Given the description of an element on the screen output the (x, y) to click on. 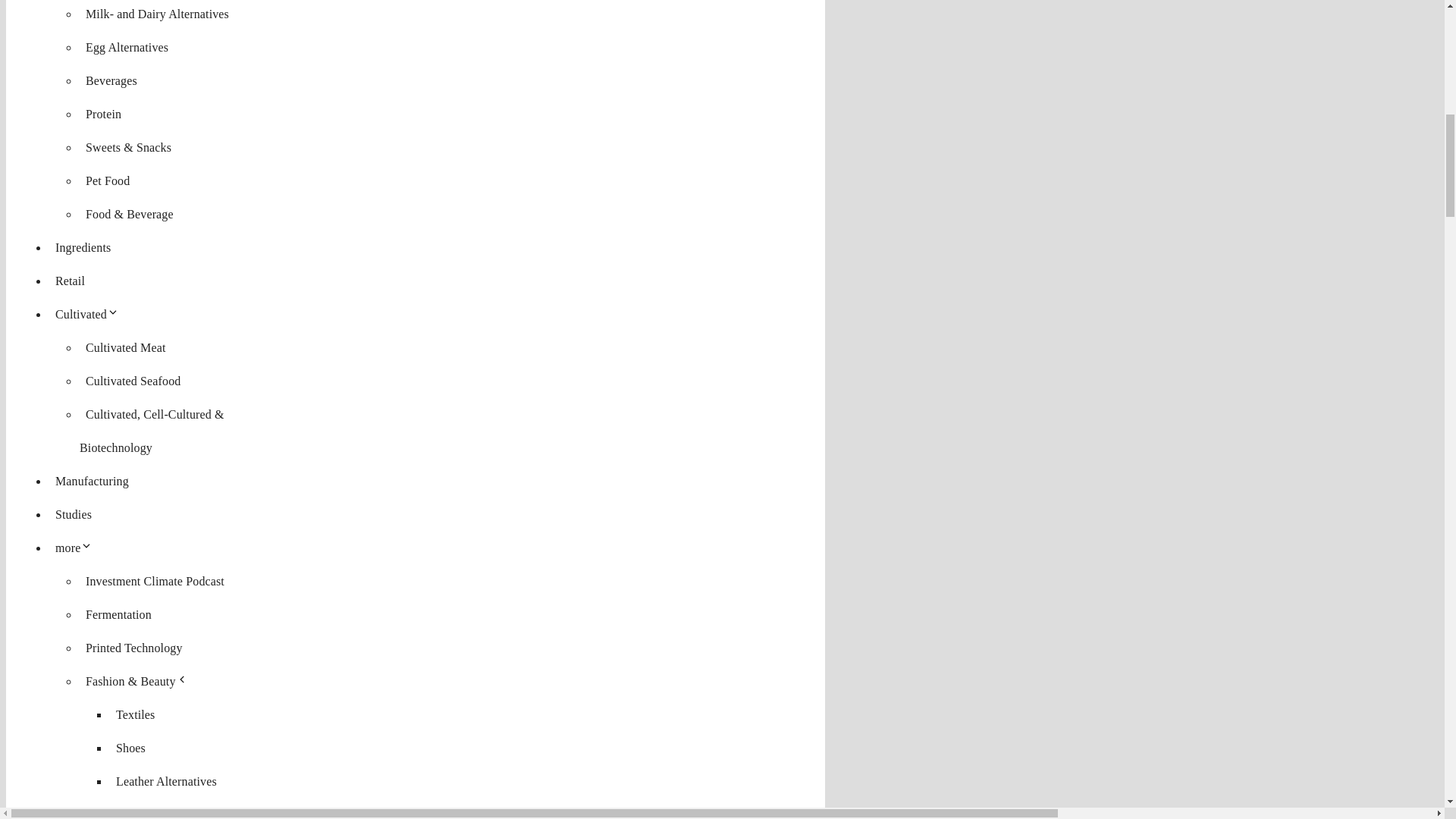
Cultivated Meat (125, 347)
Cultivated Seafood (133, 381)
Retail (69, 280)
more (76, 547)
Pet Food (107, 180)
Studies (73, 513)
Investment Climate Podcast (155, 580)
Manufacturing (92, 481)
Protein (104, 114)
Fermentation (118, 614)
Cultivated (90, 314)
Ingredients (82, 246)
Printed Technology (134, 648)
Egg Alternatives (127, 47)
Beverages (111, 80)
